Given the description of an element on the screen output the (x, y) to click on. 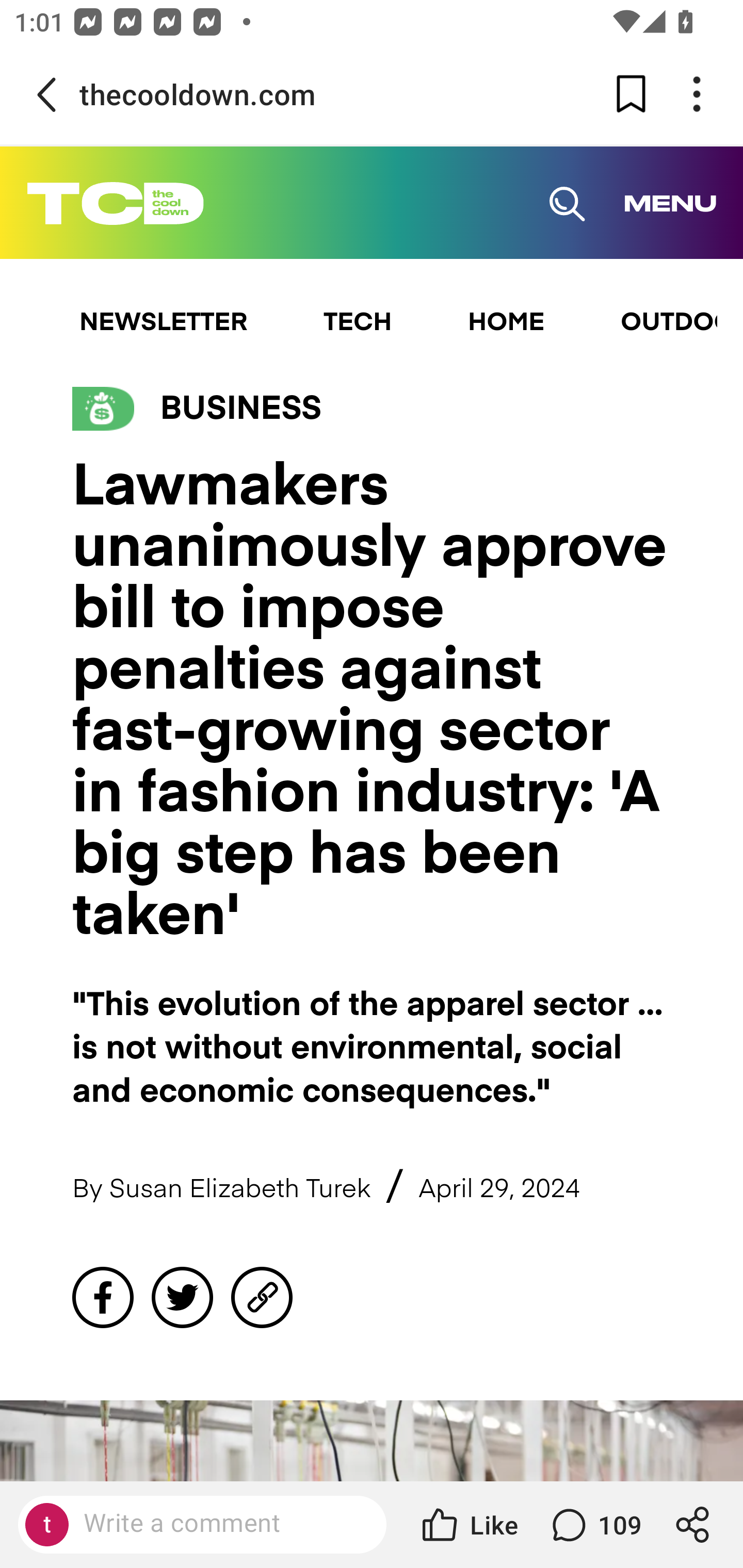
Like (468, 1524)
109 (594, 1524)
Write a comment (201, 1524)
Write a comment (219, 1523)
